Given the description of an element on the screen output the (x, y) to click on. 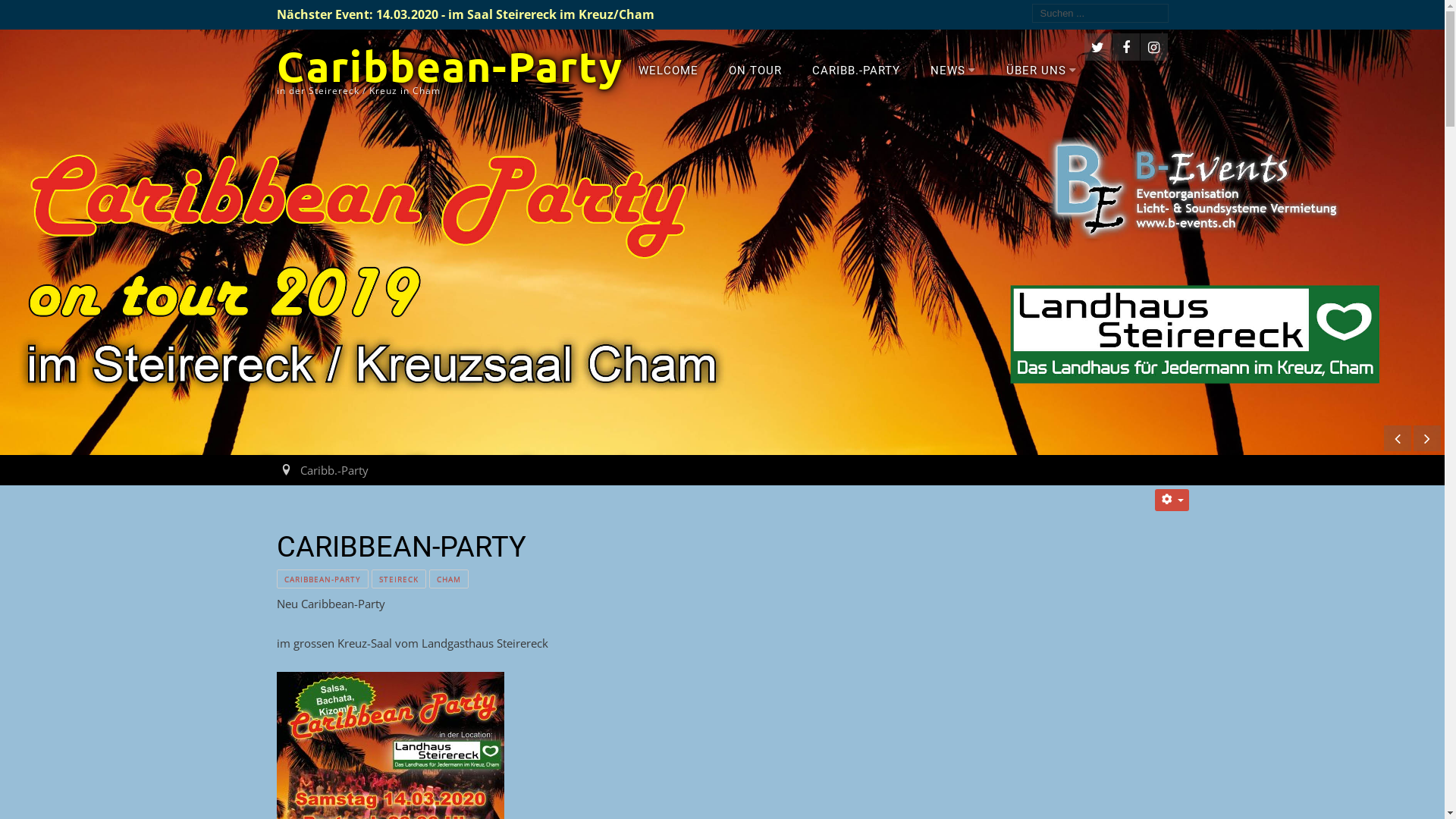
NEWS Element type: text (952, 69)
Caribbean-Party Element type: text (449, 65)
STEIRECK Element type: text (398, 578)
WELCOME Element type: text (668, 69)
ON TOUR Element type: text (754, 69)
CARIBBEAN-PARTY Element type: text (321, 578)
CHAM Element type: text (448, 578)
Twitter Element type: text (1097, 46)
Facebook Element type: text (1125, 46)
Instagram Element type: text (1153, 46)
CARIBB.-PARTY Element type: text (855, 69)
